Given the description of an element on the screen output the (x, y) to click on. 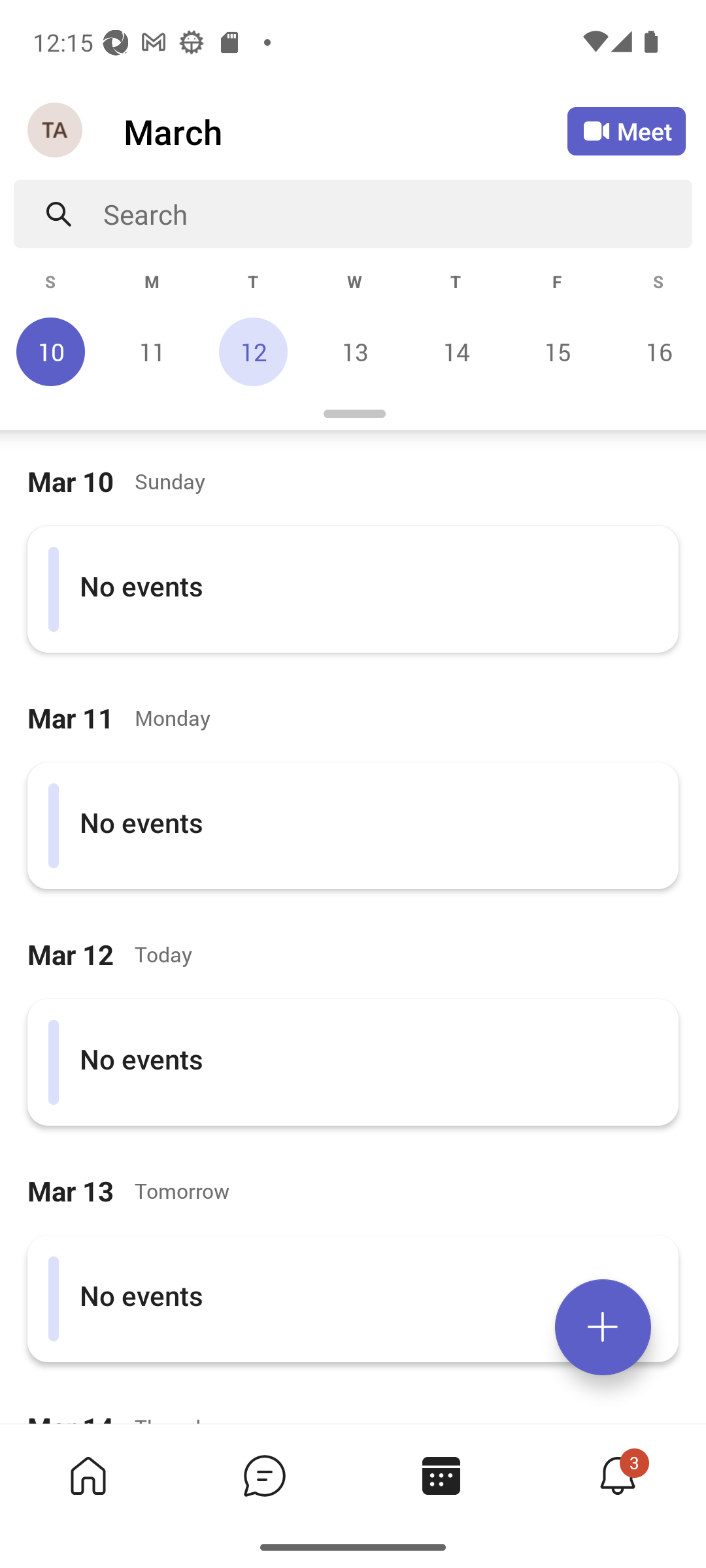
Navigation (56, 130)
Meet Meet now or join with an ID (626, 130)
March March Calendar Agenda View (345, 131)
Search (397, 213)
Sunday, March 10, Selected 10 (50, 351)
Monday, March 11 11 (151, 351)
Tuesday, March 12, Today 12 (253, 351)
Wednesday, March 13 13 (354, 351)
Thursday, March 14 14 (455, 351)
Friday, March 15 15 (556, 351)
Saturday, March 16 16 (656, 351)
Expand meetings menu (602, 1327)
Home tab,1 of 4, not selected (88, 1475)
Chat tab,2 of 4, not selected (264, 1475)
Calendar tab, 3 of 4 (441, 1475)
Activity tab,4 of 4, not selected, 3 new 3 (617, 1475)
